Given the description of an element on the screen output the (x, y) to click on. 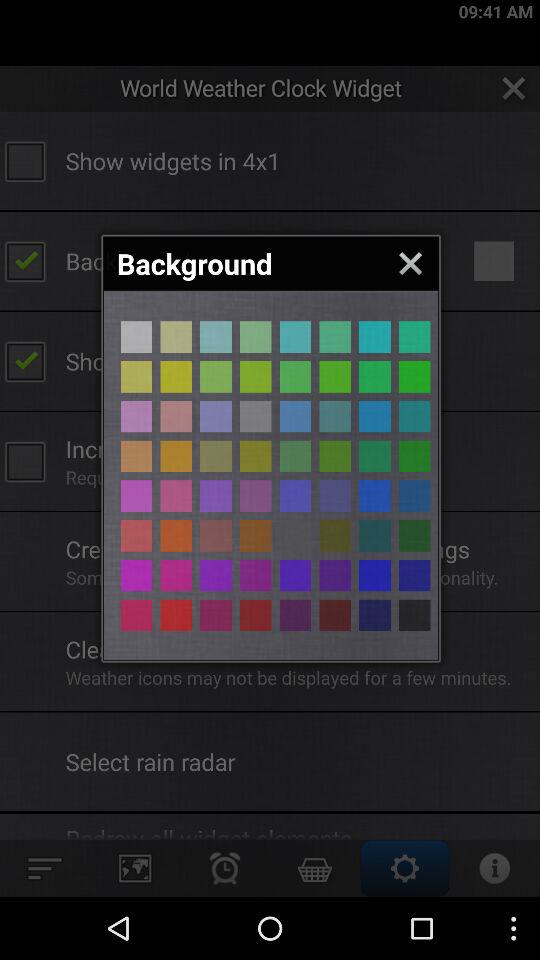
select color (176, 615)
